Given the description of an element on the screen output the (x, y) to click on. 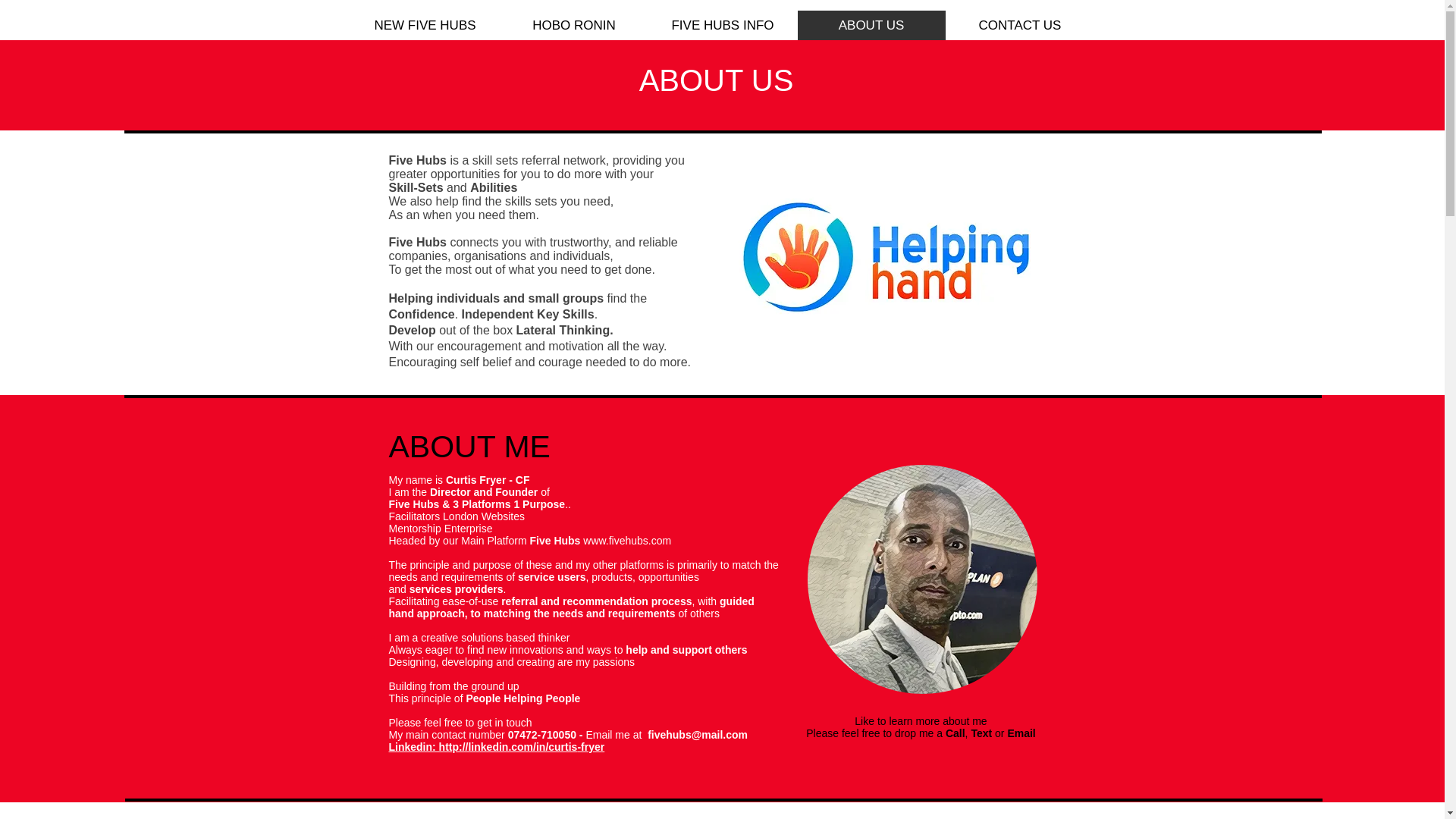
www.fivehubs.com (627, 540)
NEW FIVE HUBS (424, 25)
ABOUT US (870, 25)
CONTACT US (1018, 25)
HOBO RONIN (573, 25)
FIVE HUBS INFO (721, 25)
-fryer (590, 746)
